Given the description of an element on the screen output the (x, y) to click on. 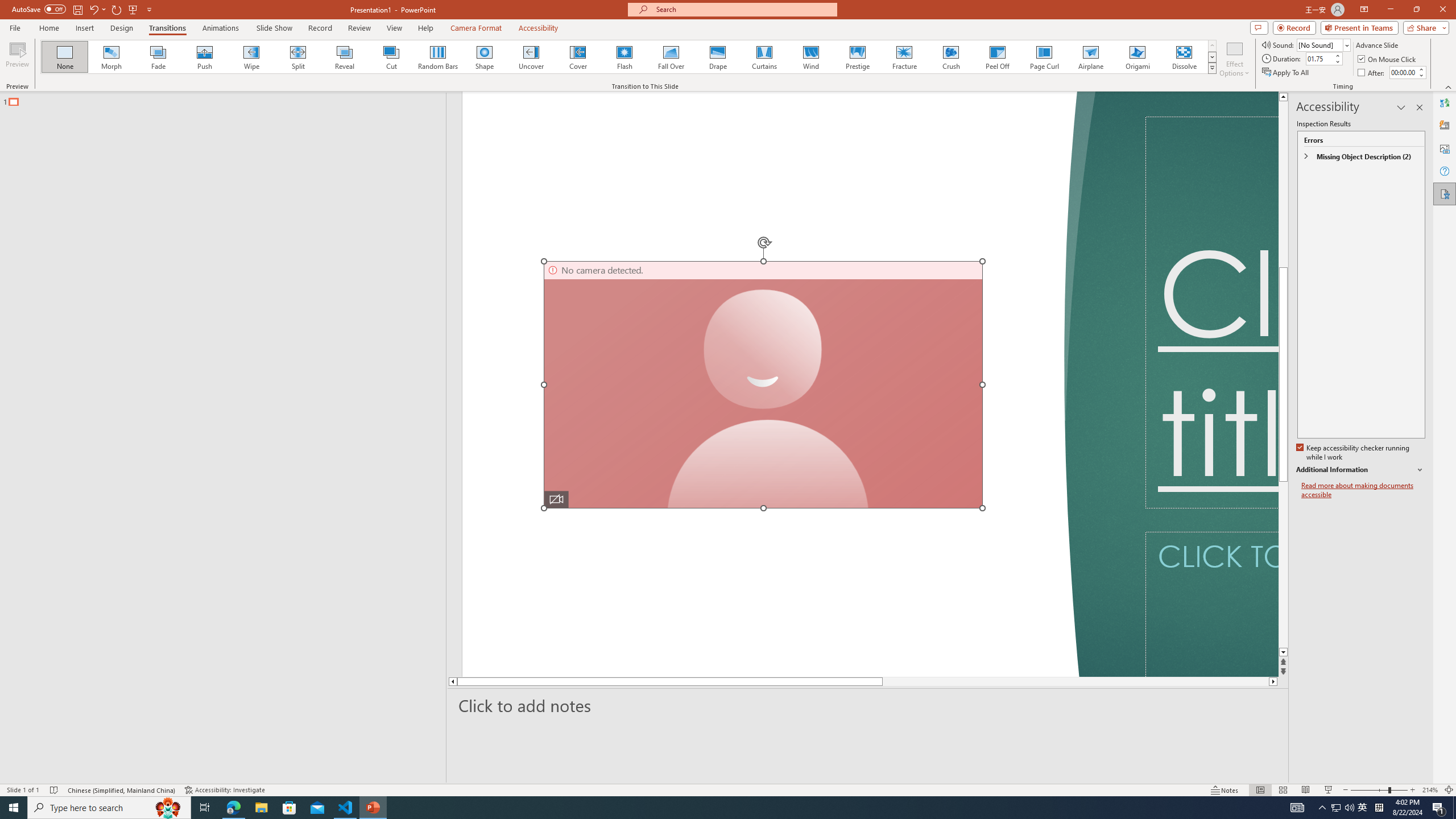
None (65, 56)
Fade (158, 56)
Additional Information (1360, 469)
Camera Format (475, 28)
Zoom 214% (1430, 790)
Random Bars (437, 56)
Preview (17, 58)
Airplane (1090, 56)
